Given the description of an element on the screen output the (x, y) to click on. 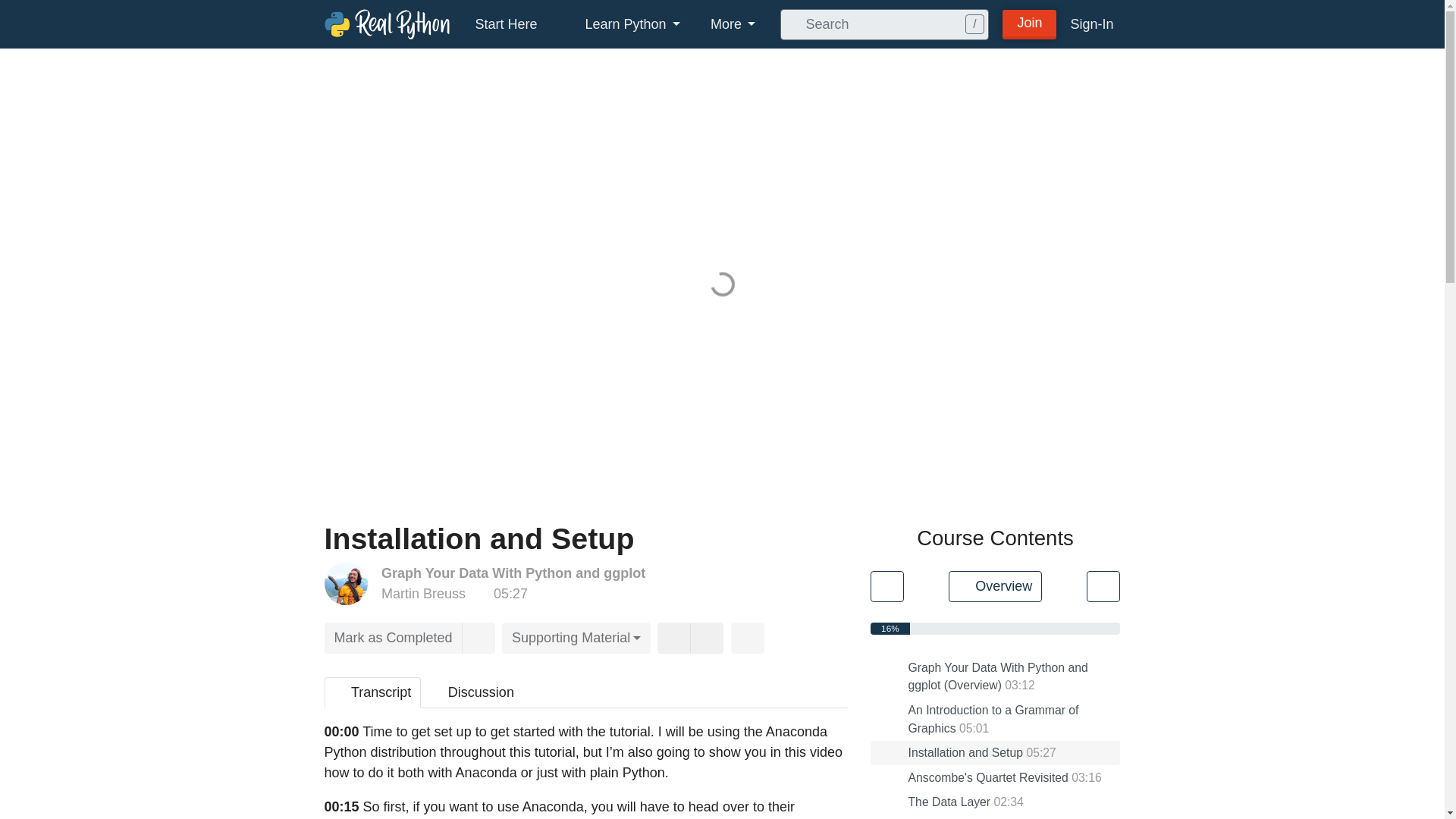
Search (790, 23)
Martin Breuss (423, 593)
Learn Python (624, 23)
Supporting Material (576, 637)
Join (1030, 23)
Mark as Completed (393, 637)
Liked it (674, 637)
Start Here (505, 23)
Share (747, 637)
